Given the description of an element on the screen output the (x, y) to click on. 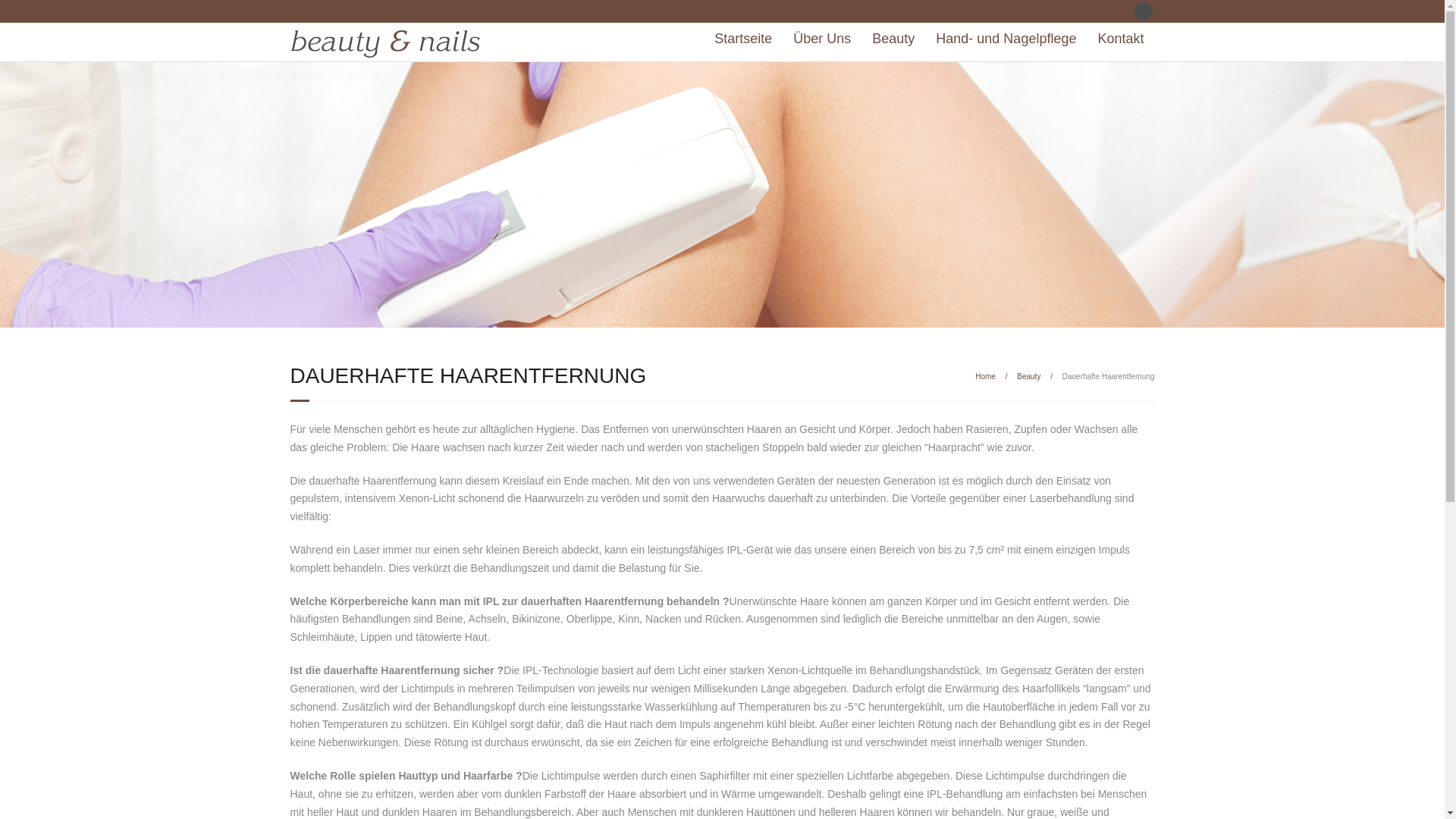
Hand- und Nagelpflege Element type: text (1005, 38)
Home Element type: text (985, 375)
Beauty Element type: text (893, 38)
Startseite Element type: text (742, 38)
Kontakt Element type: text (1120, 38)
Beauty Element type: text (1028, 375)
